Given the description of an element on the screen output the (x, y) to click on. 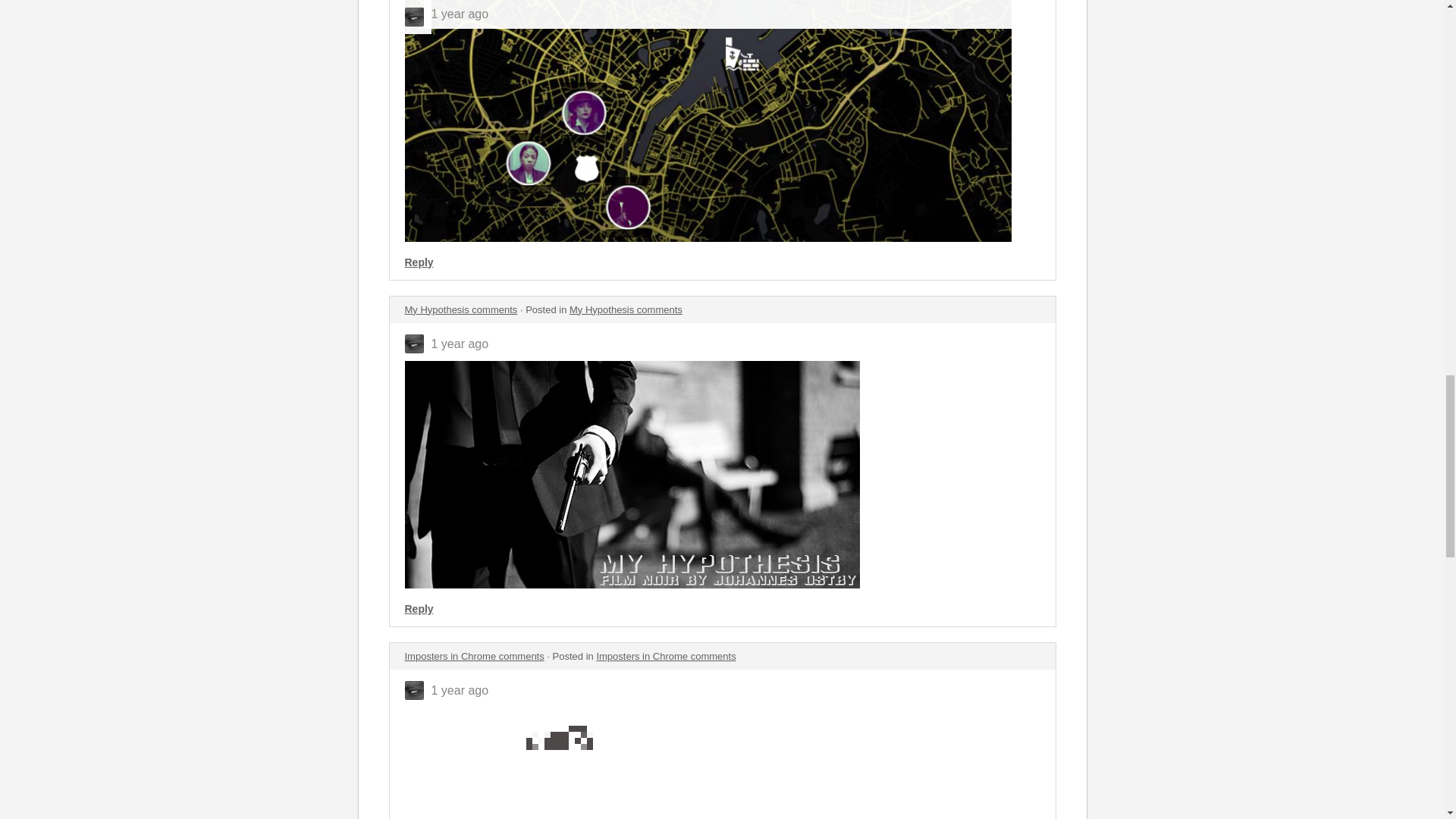
2022-08-28 10:06:06 (458, 342)
2022-08-28 10:05:19 (458, 689)
